Given the description of an element on the screen output the (x, y) to click on. 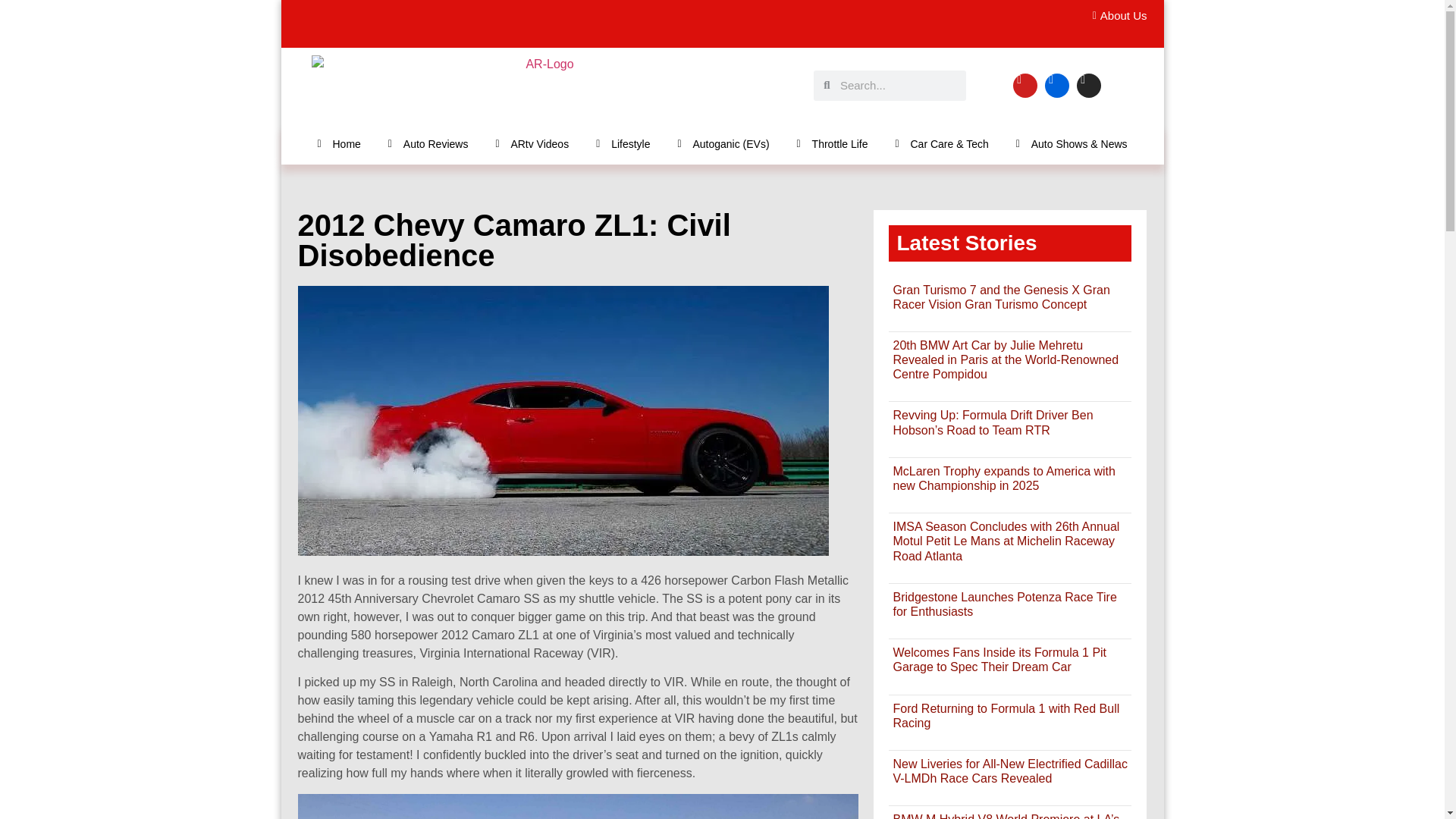
ARtv Videos (531, 142)
Ford Returning to Formula 1 with Red Bull Racing (1005, 715)
Auto Reviews (427, 142)
About Us (1115, 16)
Lifestyle (622, 142)
Bridgestone Launches Potenza Race Tire for Enthusiasts (1004, 604)
Home (338, 142)
Throttle Life (832, 142)
